Given the description of an element on the screen output the (x, y) to click on. 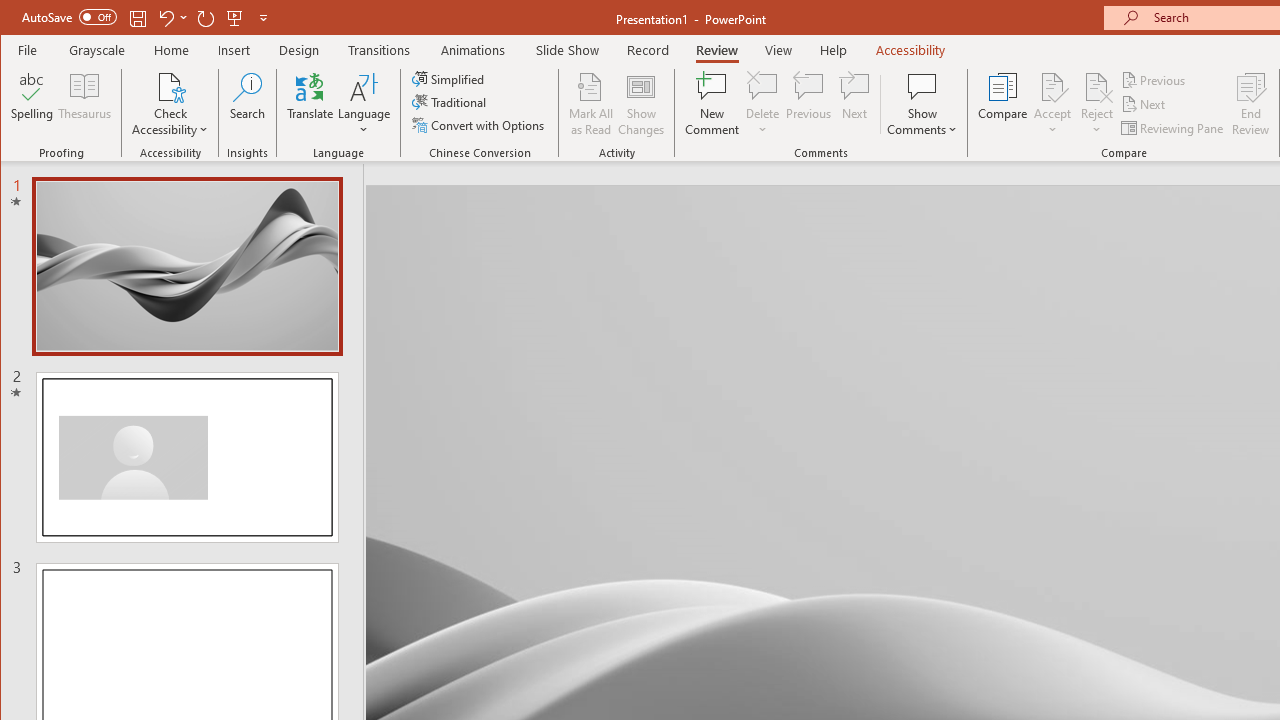
Next (1144, 103)
Spelling... (32, 104)
Language (363, 104)
Thesaurus... (84, 104)
